Given the description of an element on the screen output the (x, y) to click on. 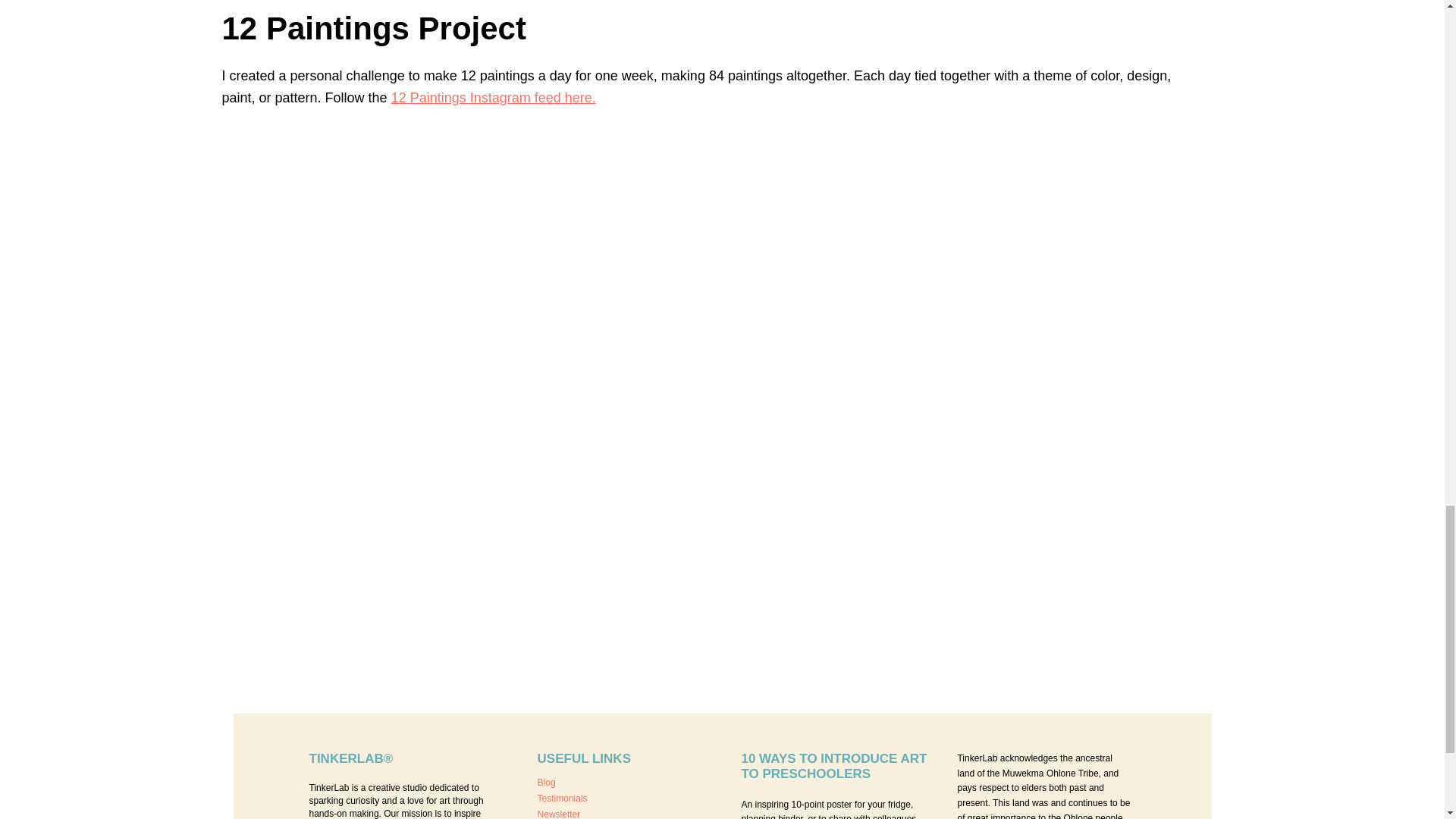
12 Paintings Instagram feed here. (493, 97)
